Given the description of an element on the screen output the (x, y) to click on. 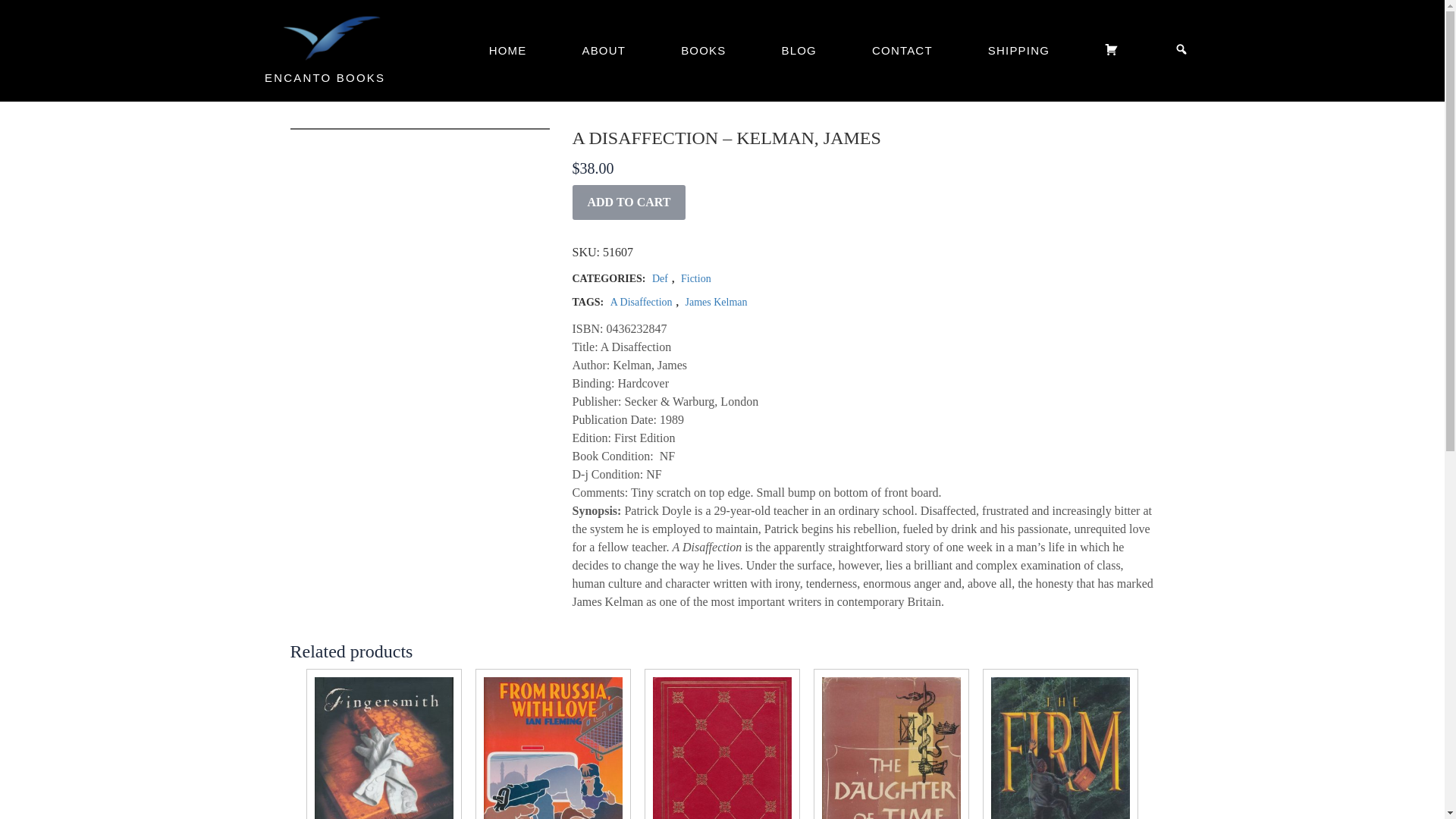
HOME (507, 50)
BOOKS (703, 50)
SHIPPING (1018, 50)
ABOUT (603, 50)
BLOG (798, 50)
CONTACT (902, 50)
